Given the description of an element on the screen output the (x, y) to click on. 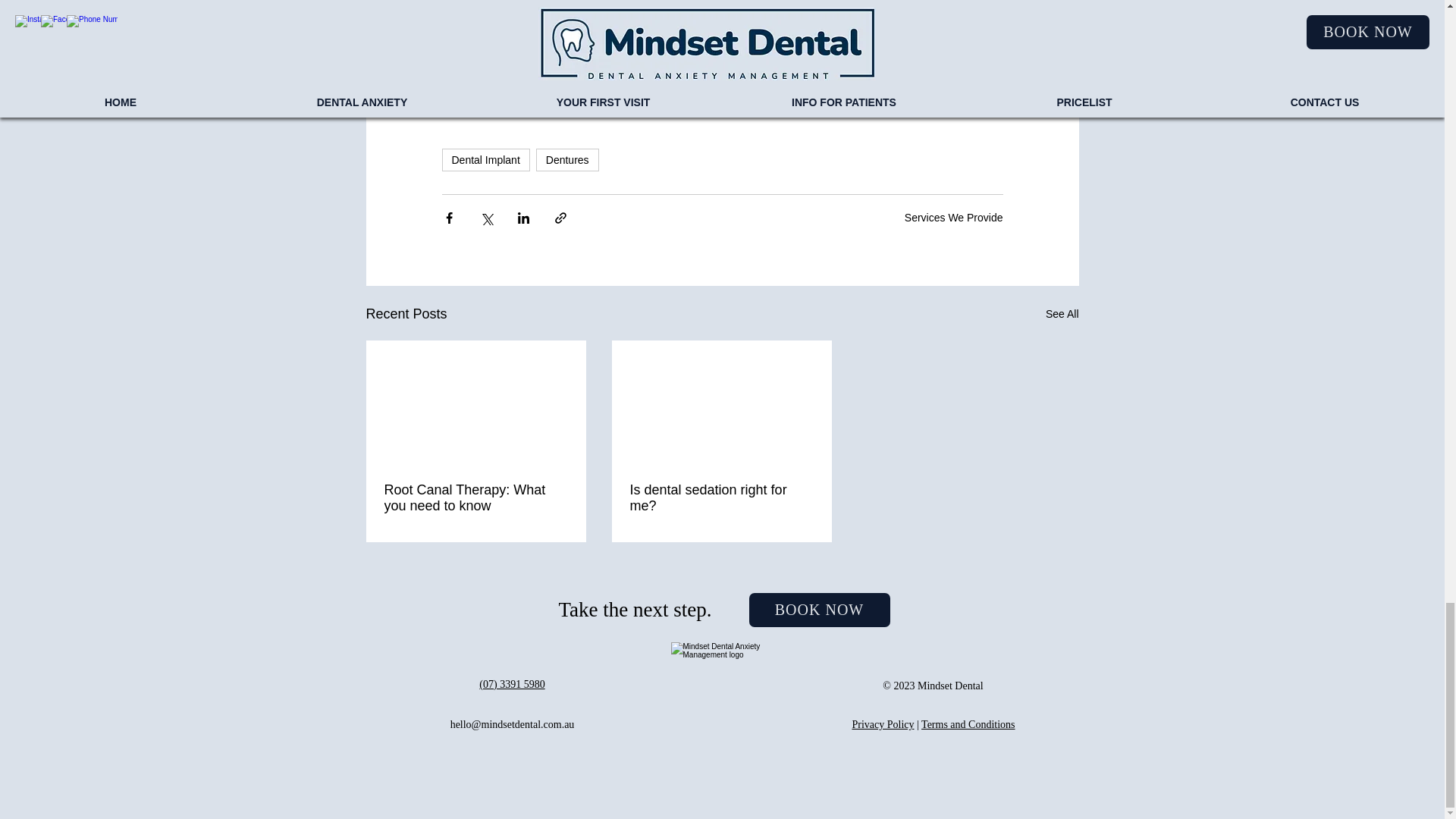
Dentures (566, 159)
Privacy Policy (882, 724)
Root Canal Therapy: What you need to know (475, 498)
Services We Provide (953, 216)
Dental Implant (485, 159)
Is dental sedation right for me? (720, 498)
BOOK NOW (819, 609)
See All (1061, 314)
